Given the description of an element on the screen output the (x, y) to click on. 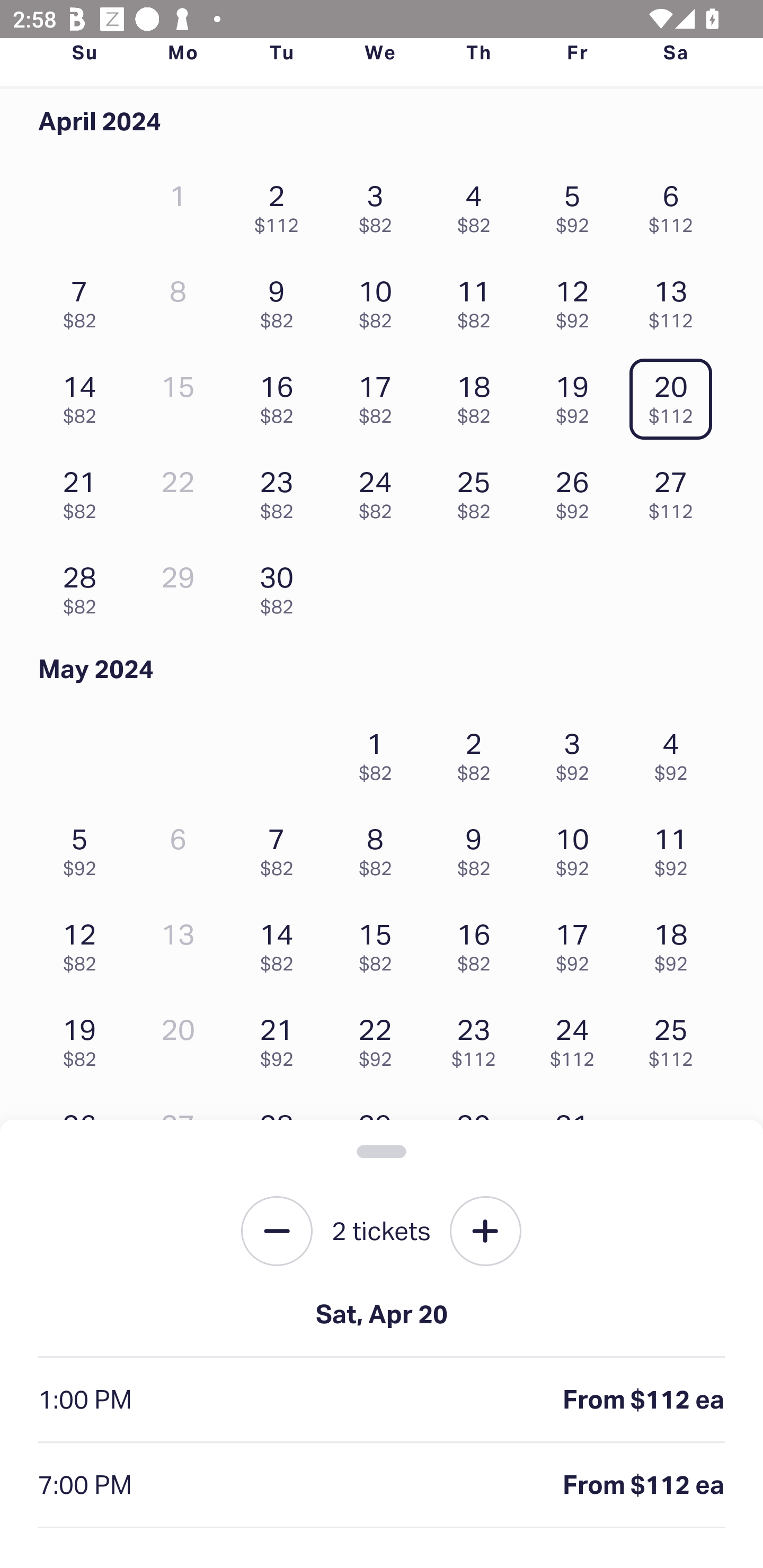
2 $112 (281, 204)
3 $82 (379, 204)
4 $82 (478, 204)
5 $92 (577, 204)
6 $112 (675, 204)
7 $82 (84, 299)
9 $82 (281, 299)
10 $82 (379, 299)
11 $82 (478, 299)
12 $92 (577, 299)
13 $112 (675, 299)
14 $82 (84, 395)
16 $82 (281, 395)
17 $82 (379, 395)
18 $82 (478, 395)
19 $92 (577, 395)
20 $112 (675, 395)
21 $82 (84, 489)
23 $82 (281, 489)
24 $82 (379, 489)
25 $82 (478, 489)
26 $92 (577, 489)
27 $112 (675, 489)
28 $82 (84, 585)
30 $82 (281, 585)
1 $82 (379, 751)
2 $82 (478, 751)
3 $92 (577, 751)
4 $92 (675, 751)
5 $92 (84, 847)
7 $82 (281, 847)
8 $82 (379, 847)
9 $82 (478, 847)
10 $92 (577, 847)
11 $92 (675, 847)
12 $82 (84, 942)
14 $82 (281, 942)
15 $82 (379, 942)
16 $82 (478, 942)
17 $92 (577, 942)
18 $92 (675, 942)
19 $82 (84, 1038)
21 $92 (281, 1038)
22 $92 (379, 1038)
23 $112 (478, 1038)
24 $112 (577, 1038)
25 $112 (675, 1038)
2 $82 (84, 1394)
9 $82 (84, 1490)
